Given the description of an element on the screen output the (x, y) to click on. 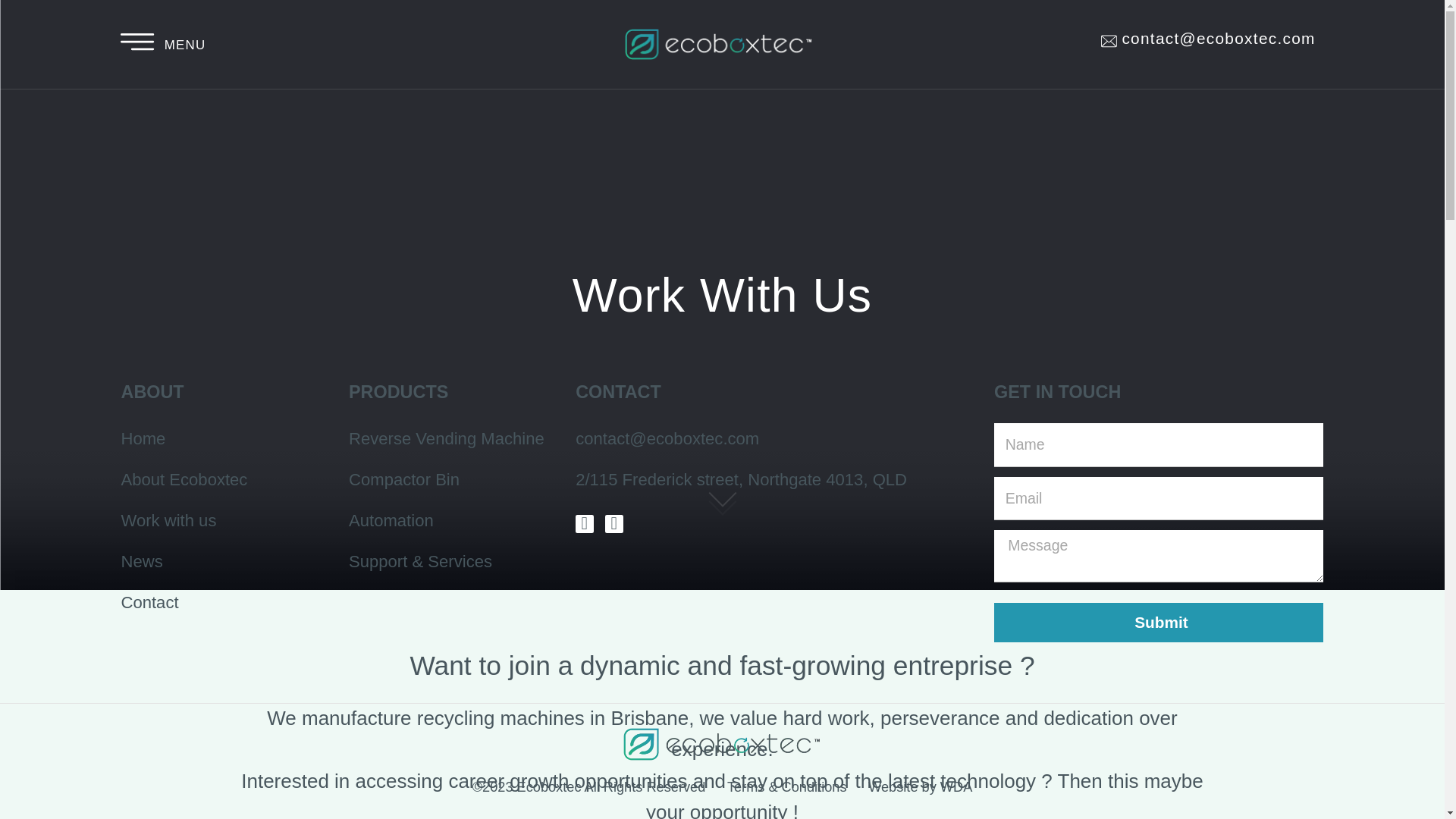
Home (173, 337)
Instagram (449, 403)
Contact (173, 463)
Linkedin-in (472, 403)
Submit (891, 479)
Reverse Vending Machine (347, 337)
Website by WDA (708, 604)
News (173, 432)
MENU (142, 34)
Work with us (173, 401)
About Ecoboxtec (173, 369)
